Given the description of an element on the screen output the (x, y) to click on. 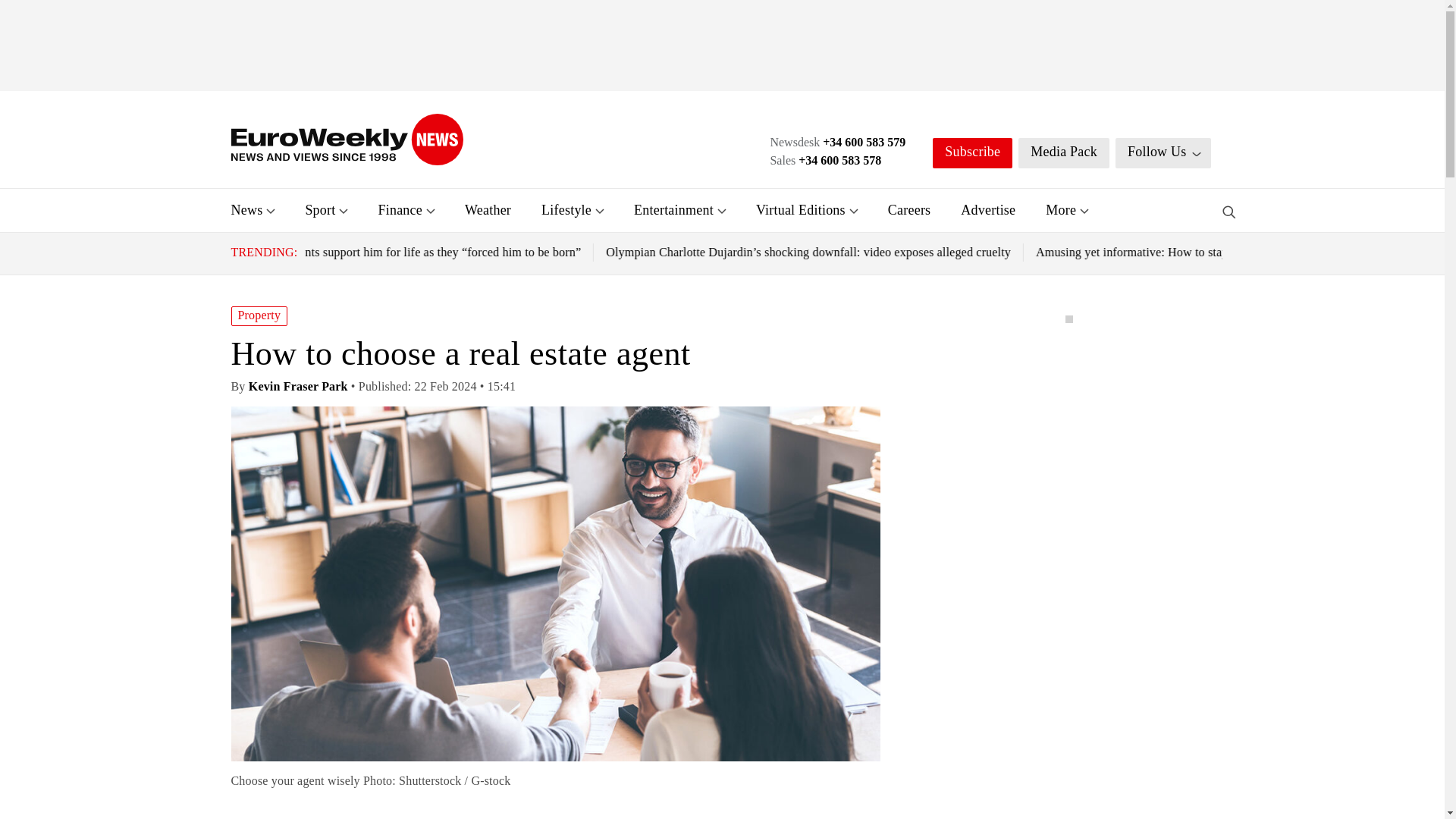
Follow Us (1163, 153)
News (246, 209)
Subscribe (972, 153)
Media Pack (1063, 153)
